Given the description of an element on the screen output the (x, y) to click on. 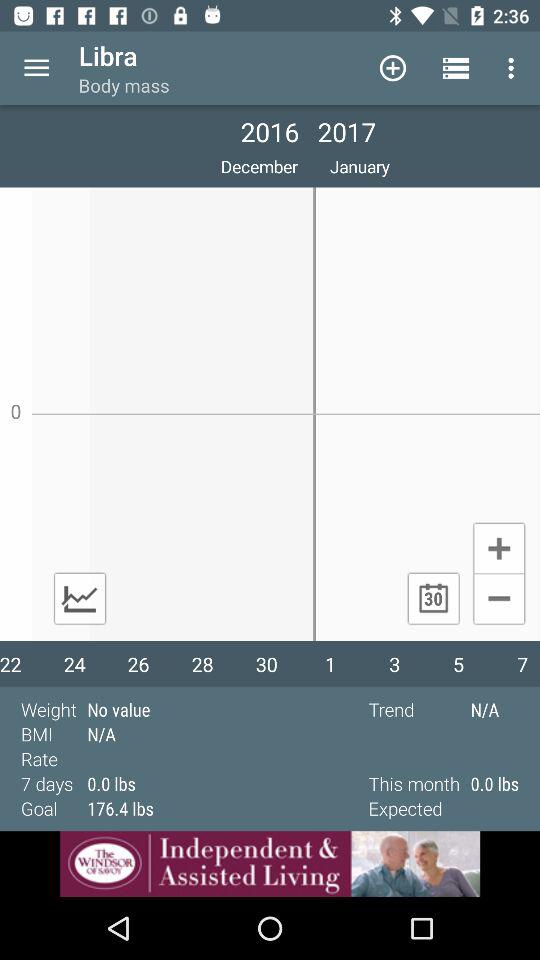
add element (498, 547)
